Given the description of an element on the screen output the (x, y) to click on. 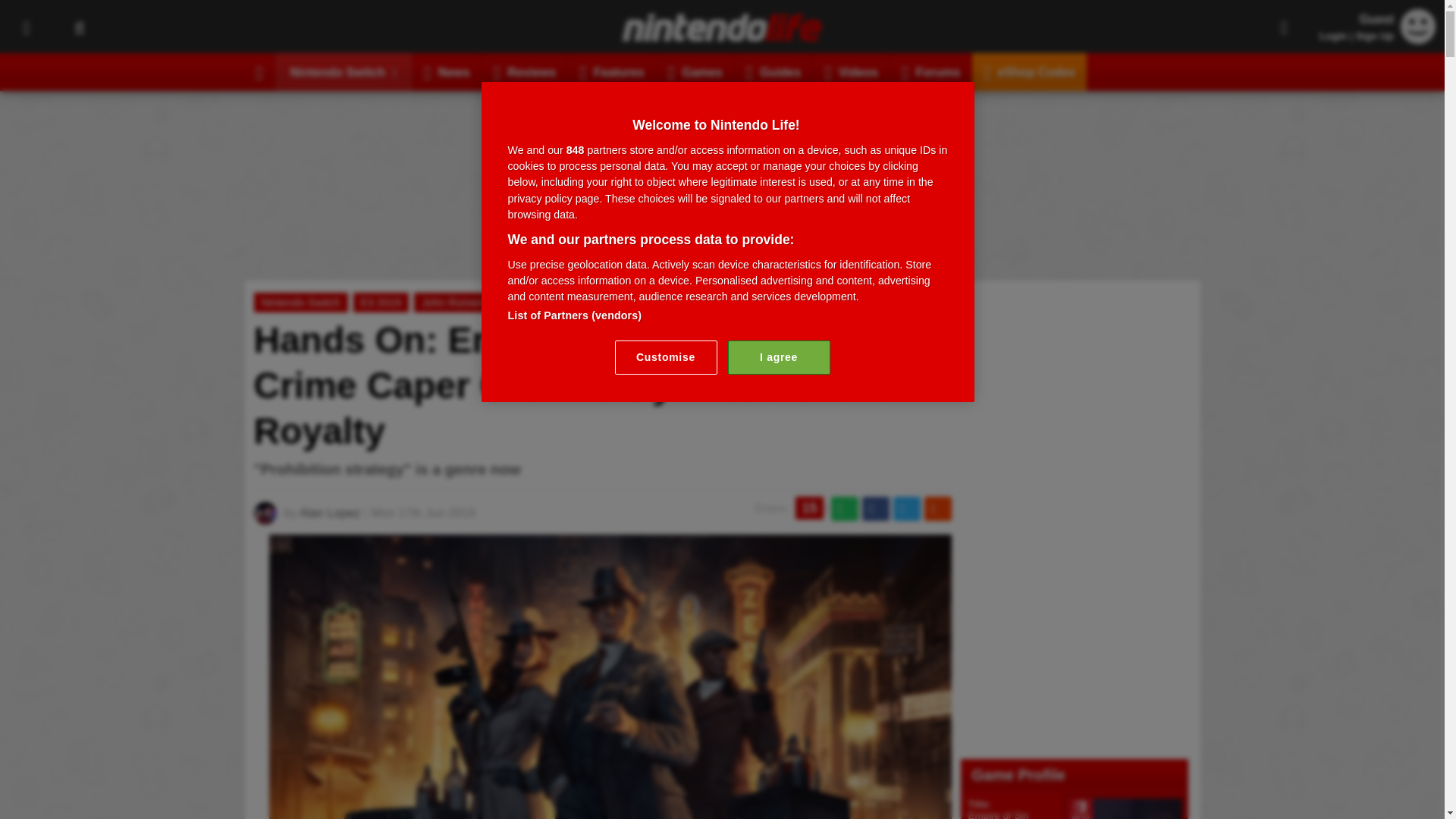
Nintendo Switch (300, 302)
Sign Up (1374, 35)
Forums (930, 71)
Guest (1417, 39)
Share this on Reddit (936, 508)
E3 2019 (381, 302)
Nintendo Life (721, 27)
Nintendo Life (721, 27)
Alan Lopez (329, 512)
Games (695, 71)
Brenda Romero (546, 302)
Previews (760, 302)
John Romero (454, 302)
Guides (774, 71)
